Given the description of an element on the screen output the (x, y) to click on. 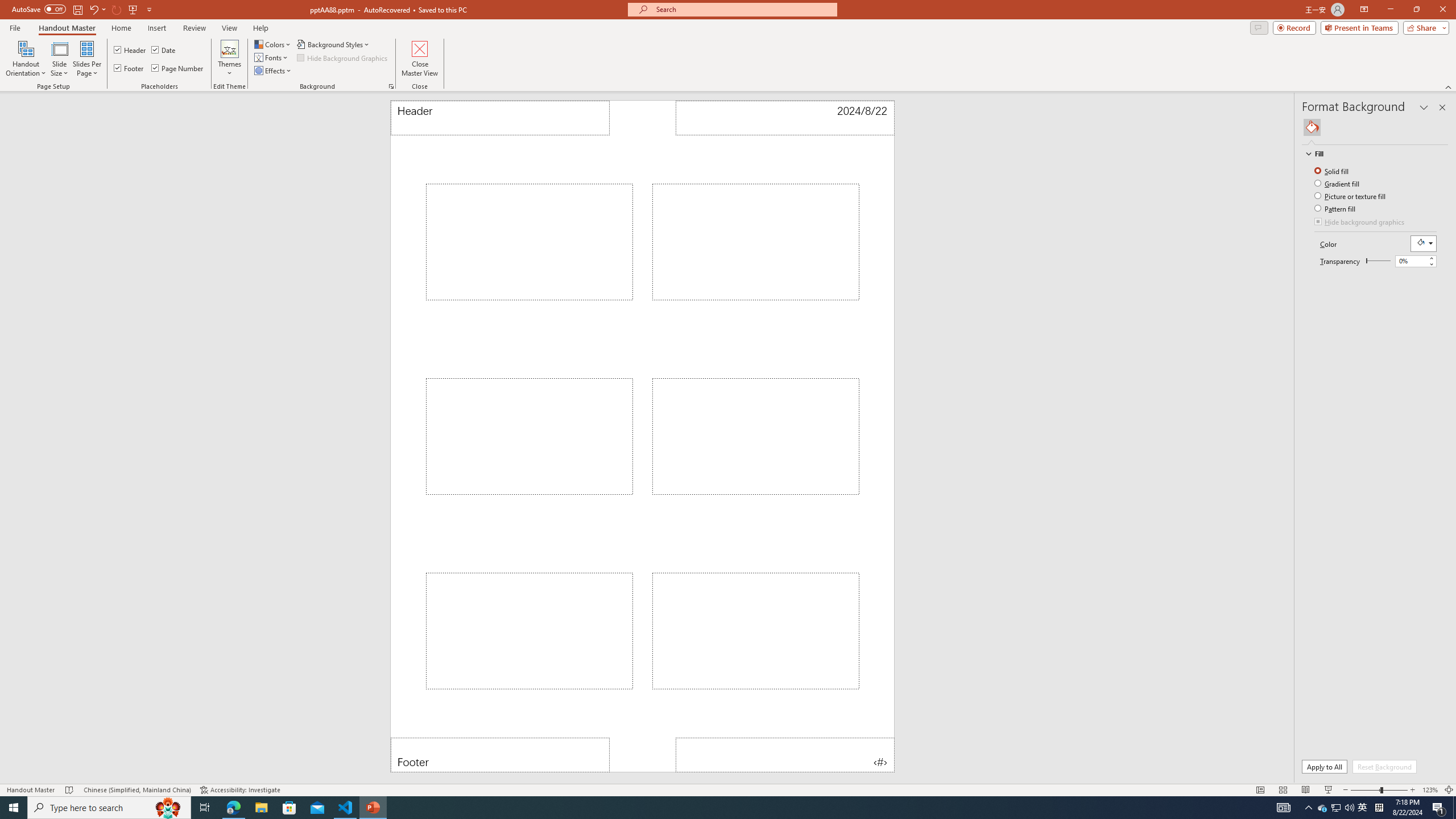
Class: NetUIGalleryContainer (1375, 126)
Page Number (177, 67)
Transparency (1411, 260)
Reset Background (1384, 766)
